Given the description of an element on the screen output the (x, y) to click on. 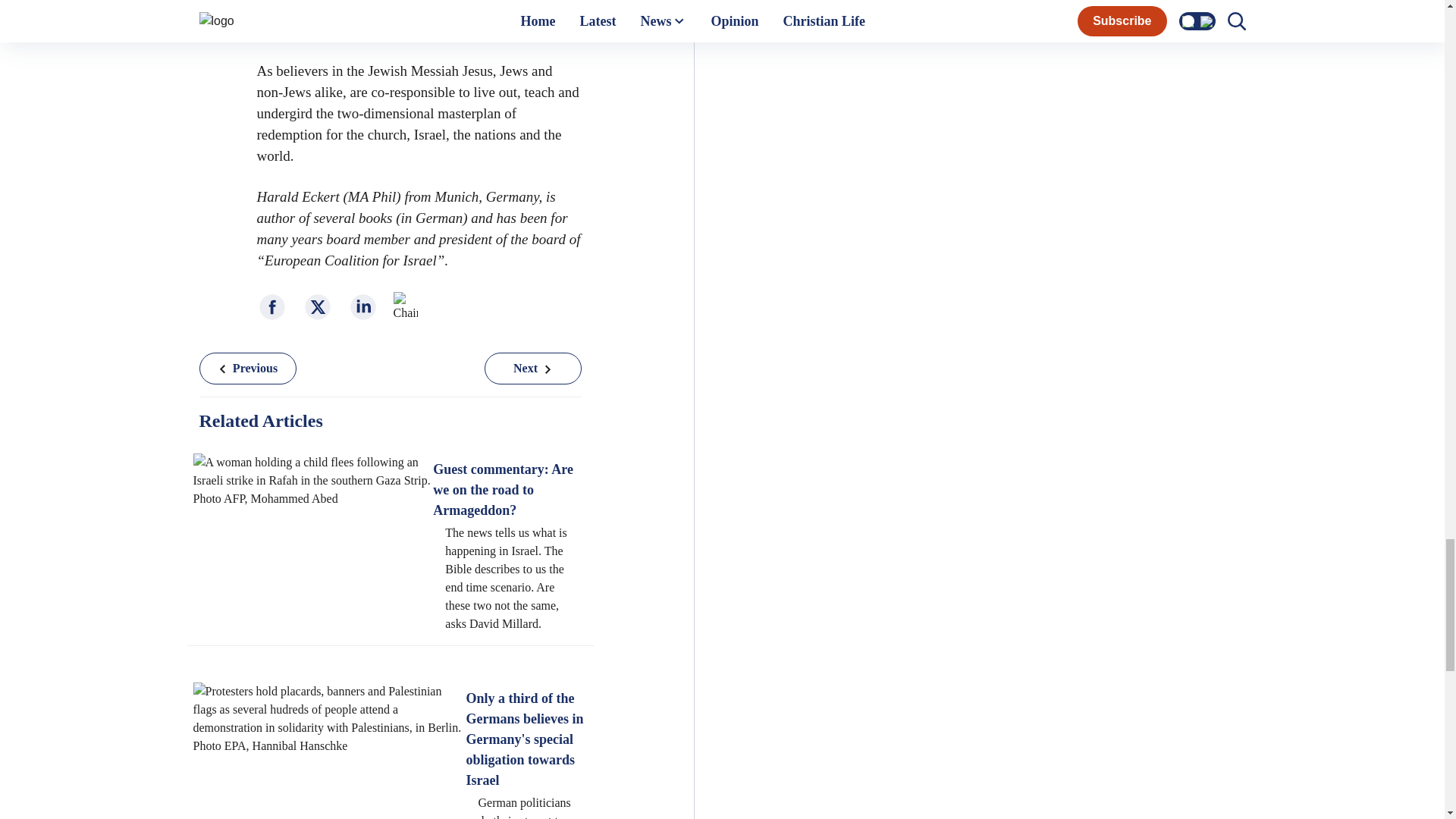
Previous (418, 15)
Next (246, 368)
